Given the description of an element on the screen output the (x, y) to click on. 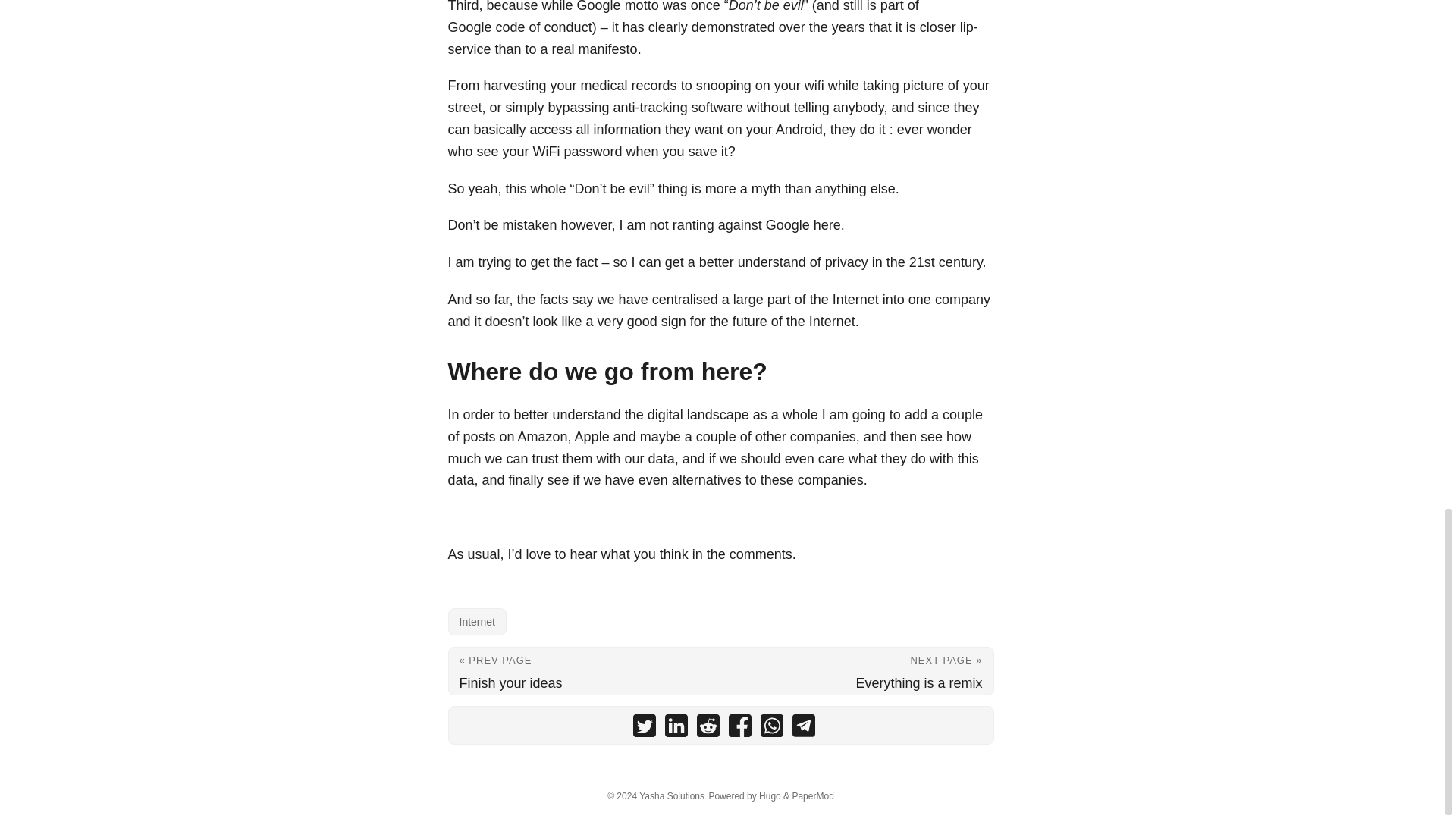
Hugo (769, 796)
PaperMod (812, 796)
Yasha Solutions (671, 796)
Internet (475, 621)
